Given the description of an element on the screen output the (x, y) to click on. 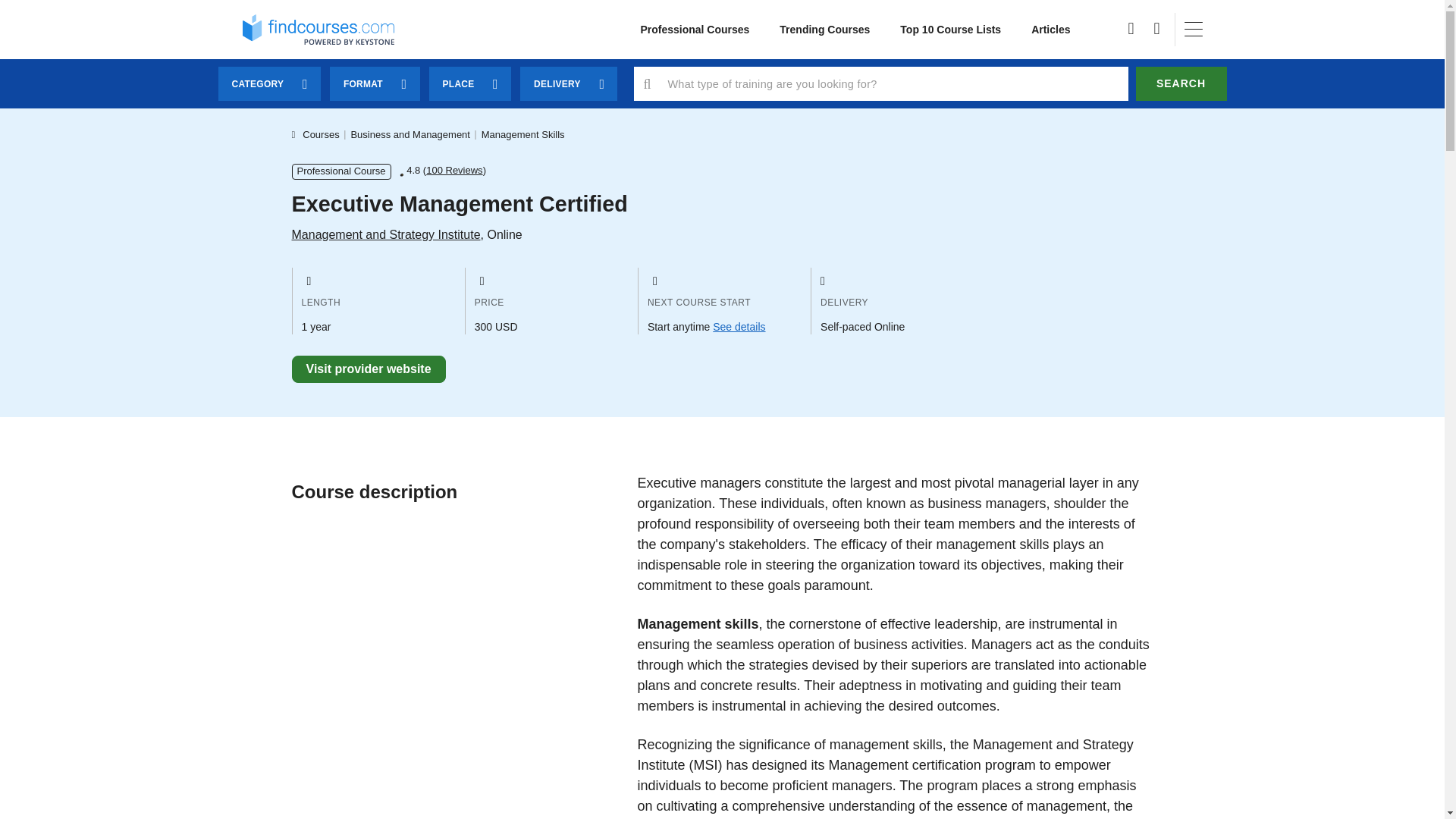
All course categories (694, 29)
Trending Courses (824, 29)
Top 10 Course Lists (950, 29)
findcourses.com homepage (318, 28)
Articles (1050, 29)
Search (1181, 83)
Search (1181, 83)
